Given the description of an element on the screen output the (x, y) to click on. 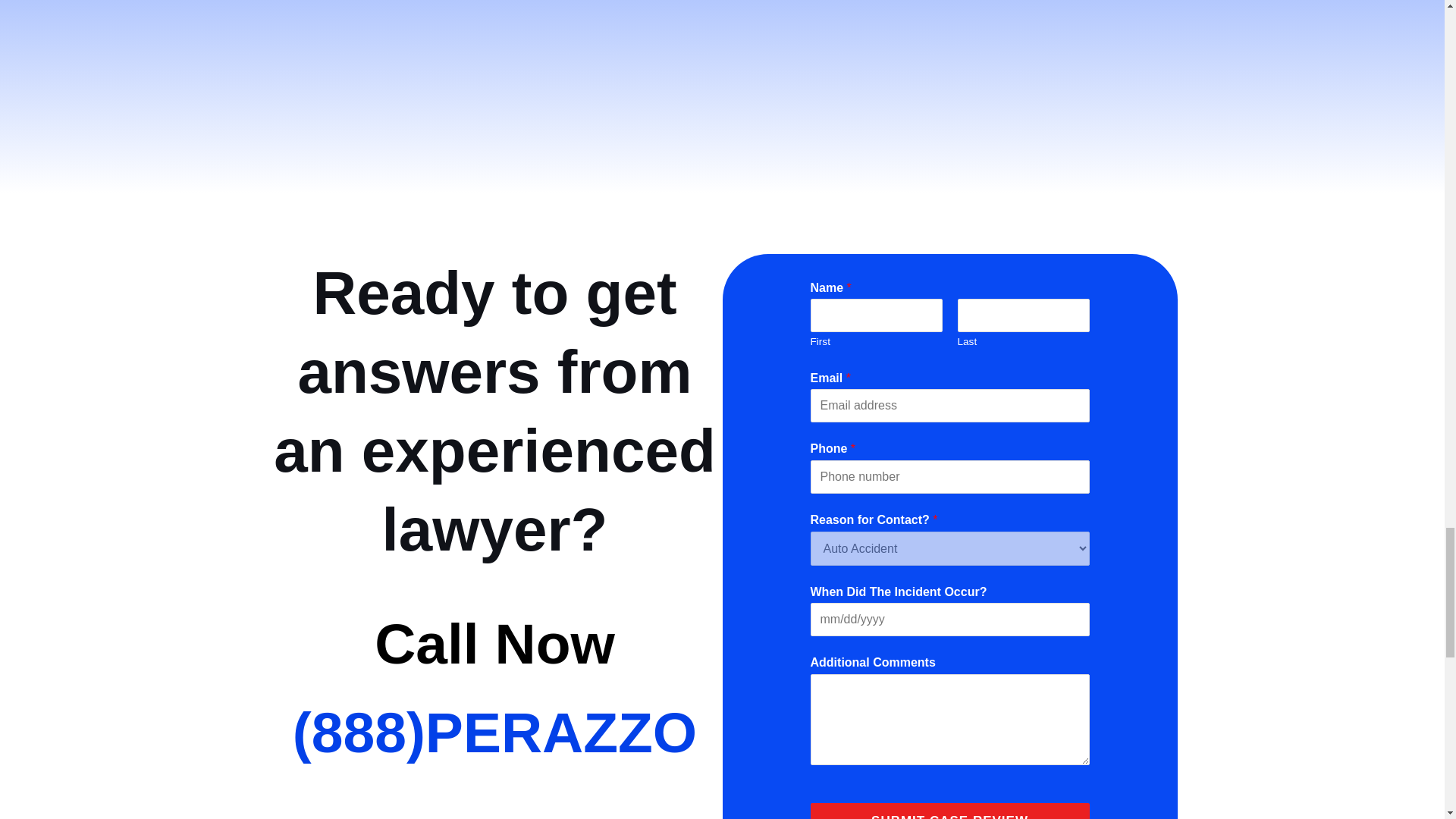
SUBMIT CASE REVIEW (949, 811)
